Given the description of an element on the screen output the (x, y) to click on. 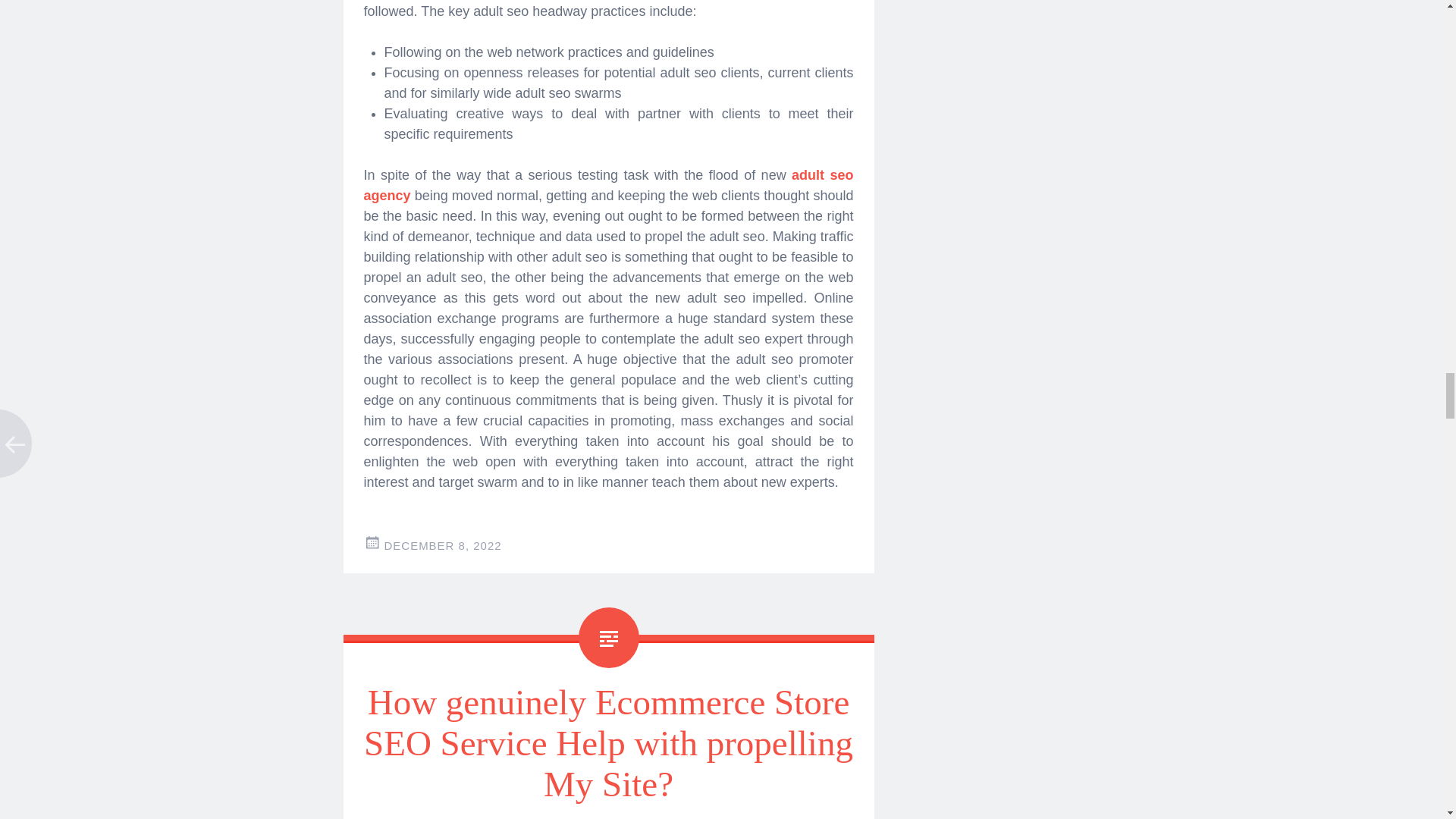
4:16 am (442, 545)
